Given the description of an element on the screen output the (x, y) to click on. 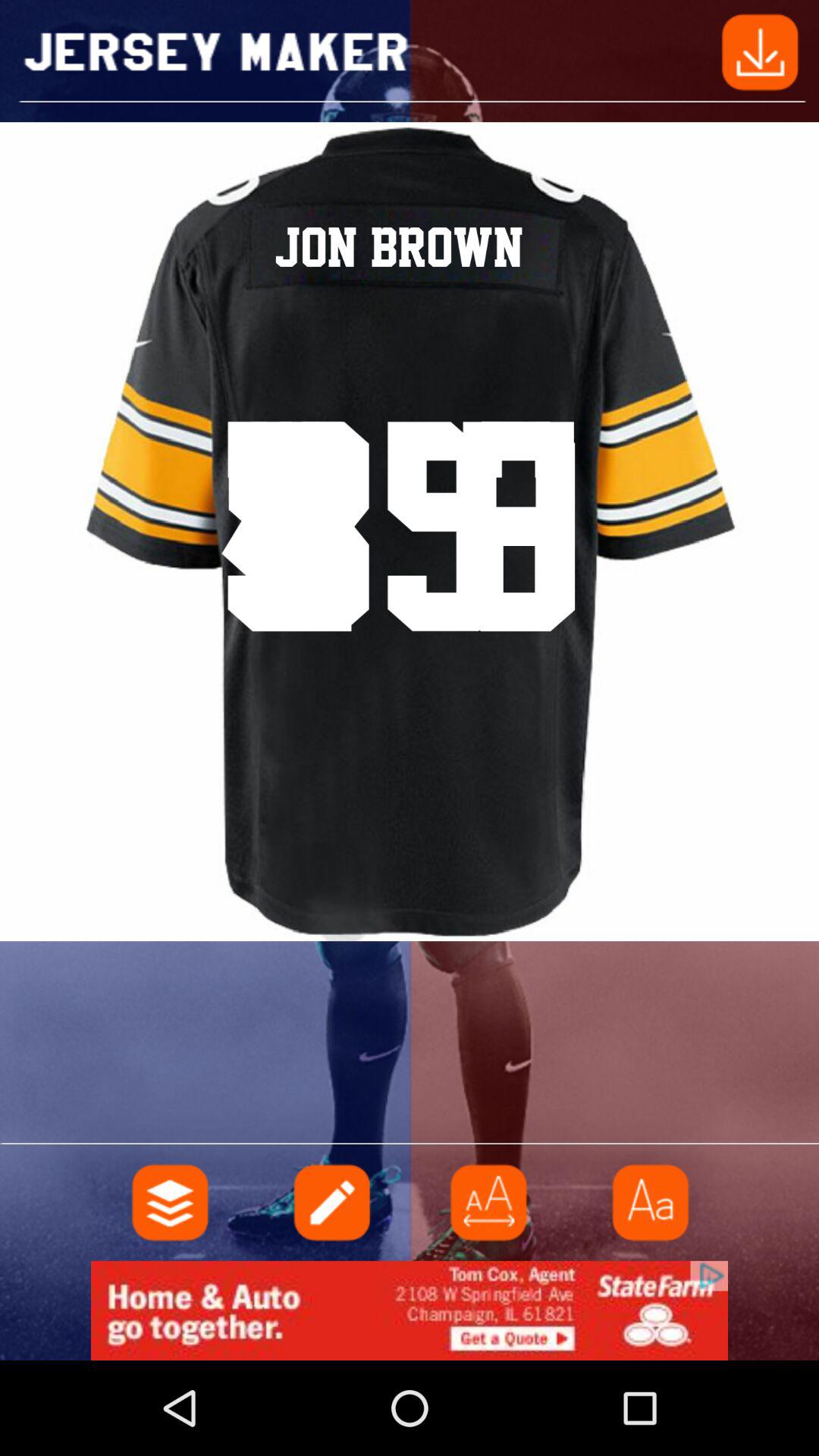
space (488, 1202)
